Given the description of an element on the screen output the (x, y) to click on. 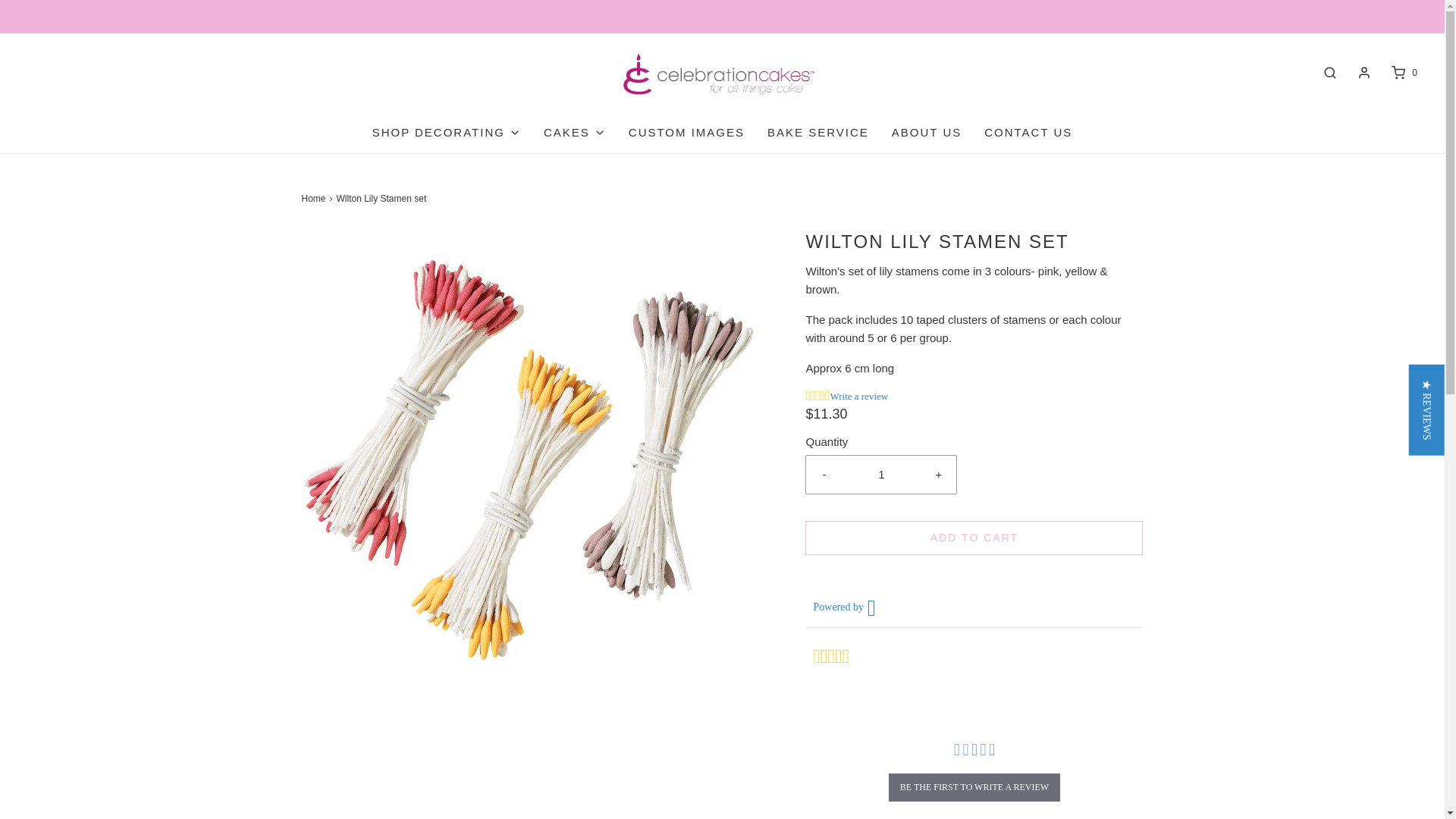
Back to the frontpage (315, 198)
Log in (1364, 72)
Search (1329, 73)
Cart (1403, 73)
1 (881, 474)
